Given the description of an element on the screen output the (x, y) to click on. 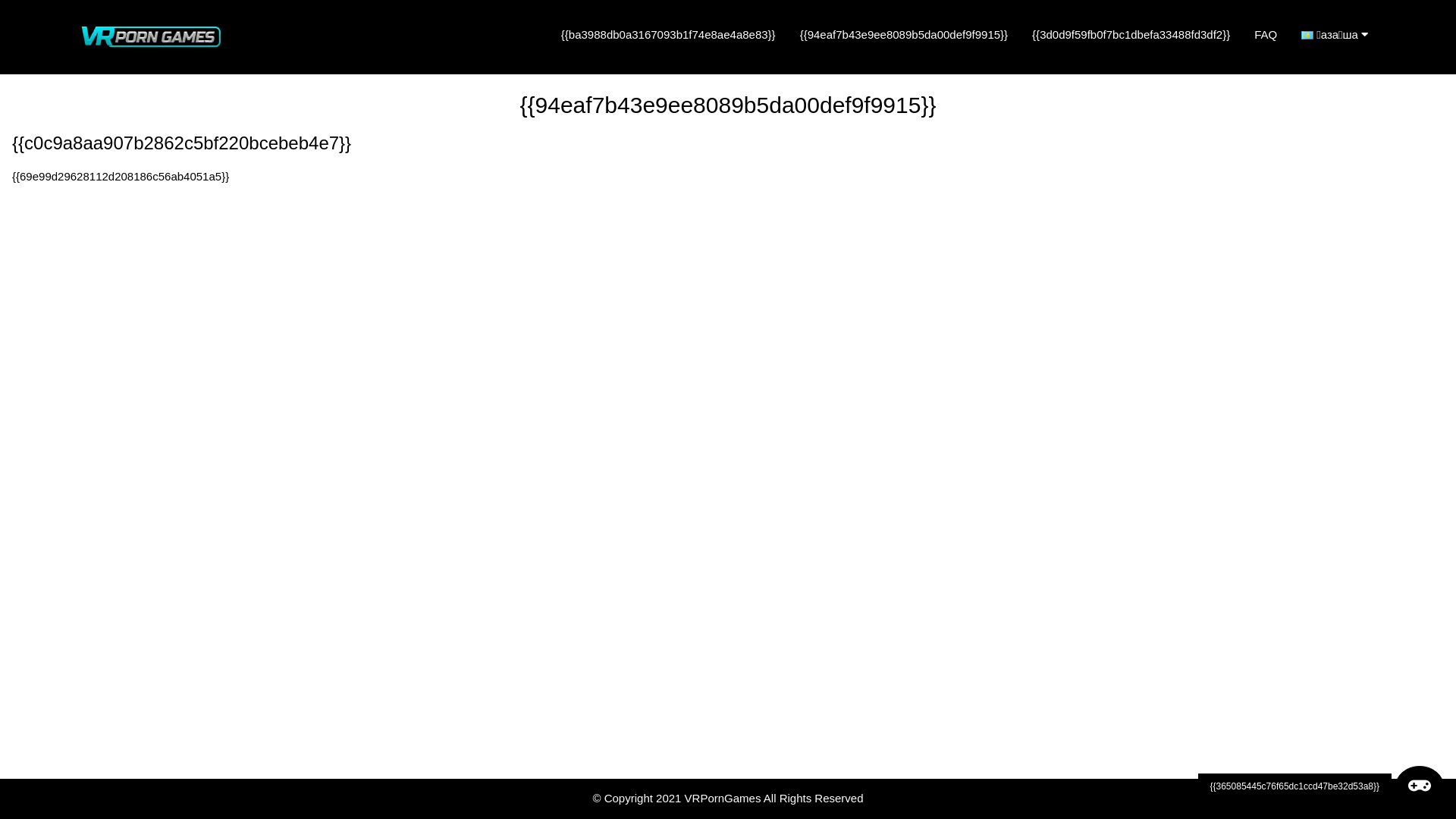
FAQ Element type: text (1265, 35)
